Given the description of an element on the screen output the (x, y) to click on. 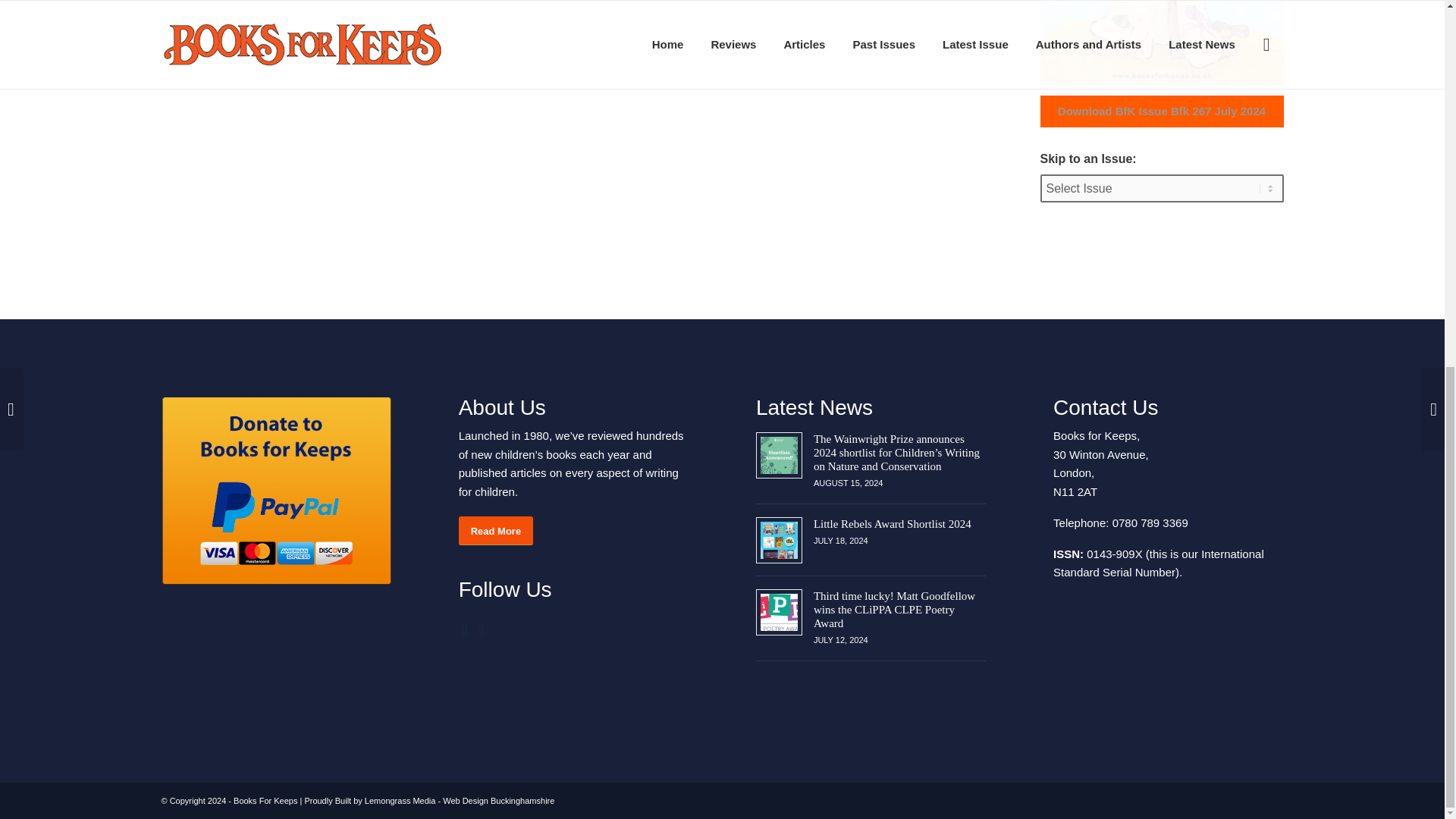
Little Rebels Award Shortlist 2024 (892, 523)
PayPal - The safer, easier way to pay online! (275, 490)
Read More (495, 531)
Link to: Little Rebels Award Shortlist 2024 (778, 539)
Download BfK Issue Bfk 267 July 2024 (1162, 111)
